Given the description of an element on the screen output the (x, y) to click on. 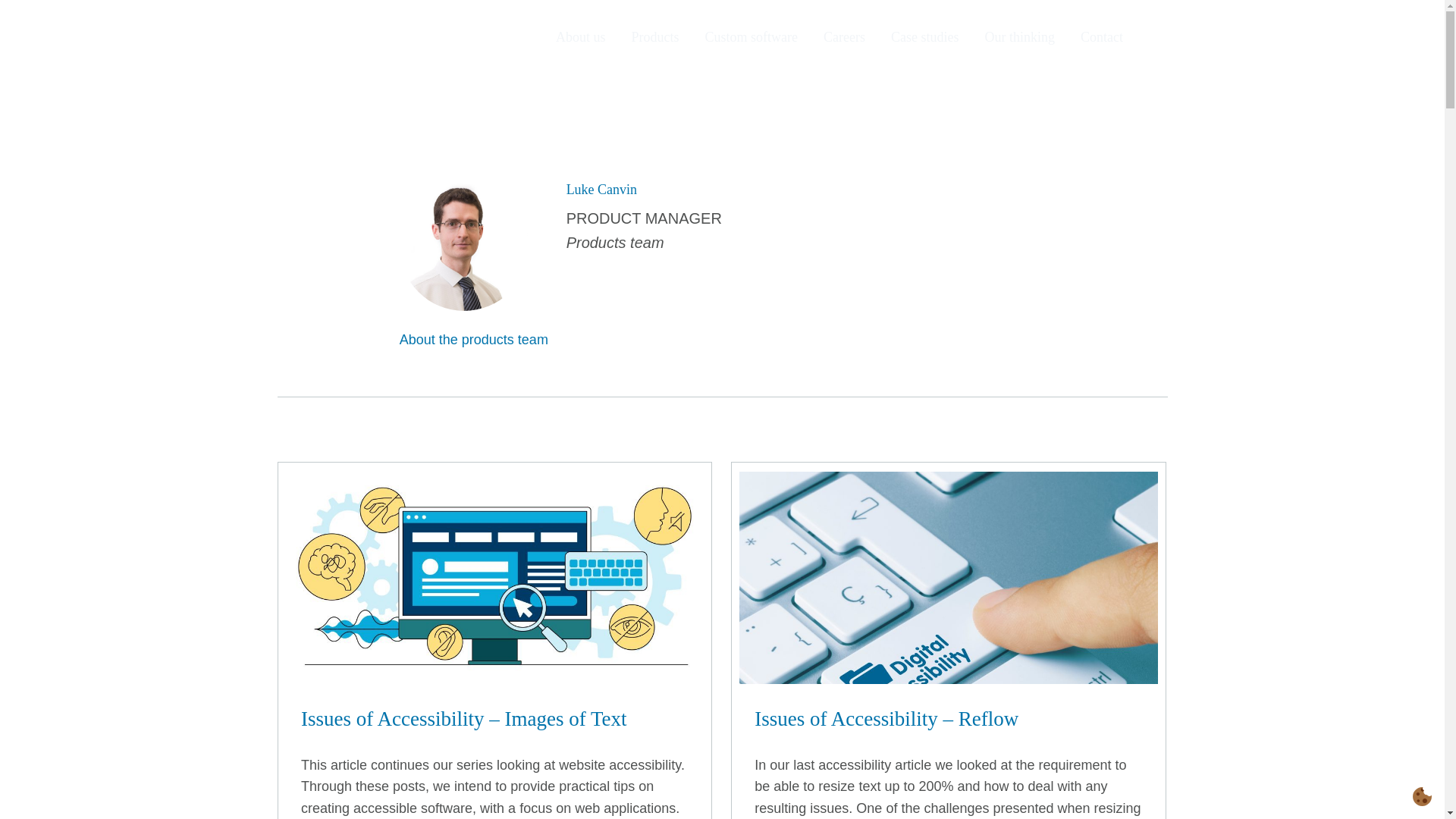
Custom software (751, 36)
Case studies (924, 36)
Our thinking (1020, 36)
Products (654, 36)
About the products team (478, 339)
Careers (844, 36)
Contact (1101, 36)
About us (580, 36)
